Given the description of an element on the screen output the (x, y) to click on. 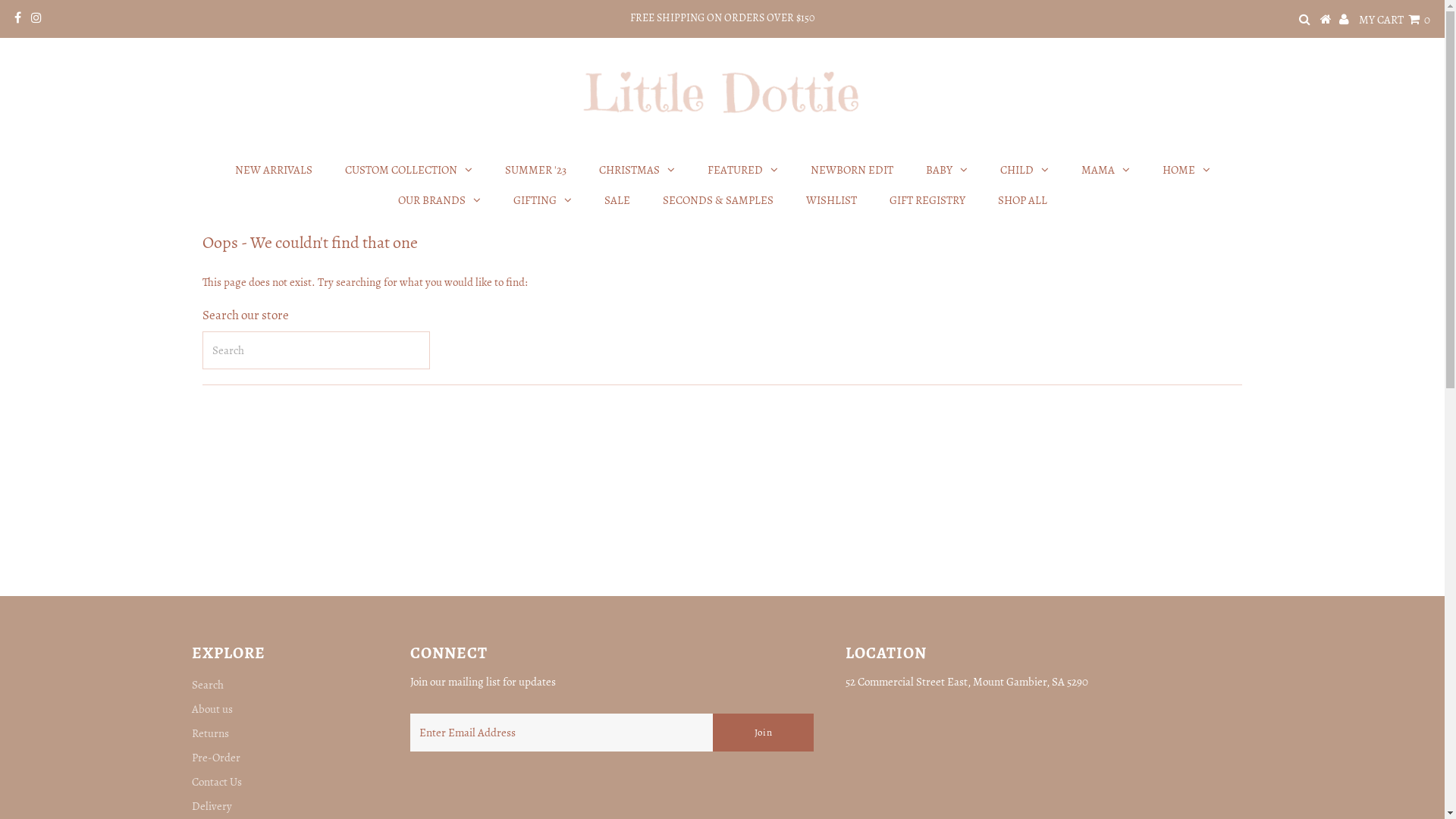
Delivery Element type: text (211, 805)
SECONDS & SAMPLES Element type: text (717, 200)
HOME Element type: text (1185, 169)
Join Element type: text (762, 732)
About us Element type: text (211, 708)
SALE Element type: text (616, 200)
Search Element type: text (206, 684)
BABY Element type: text (946, 169)
CUSTOM COLLECTION Element type: text (407, 169)
CHILD Element type: text (1023, 169)
GIFTING Element type: text (541, 200)
MAMA Element type: text (1105, 169)
SHOP ALL Element type: text (1022, 200)
MY CART    0 Element type: text (1394, 19)
SUMMER '23 Element type: text (535, 169)
Contact Us Element type: text (216, 781)
WISHLIST Element type: text (830, 200)
CHRISTMAS Element type: text (636, 169)
GIFT REGISTRY Element type: text (926, 200)
OUR BRANDS Element type: text (438, 200)
Returns Element type: text (209, 732)
FEATURED Element type: text (741, 169)
NEWBORN EDIT Element type: text (850, 169)
Pre-Order Element type: text (215, 757)
NEW ARRIVALS Element type: text (273, 169)
